Given the description of an element on the screen output the (x, y) to click on. 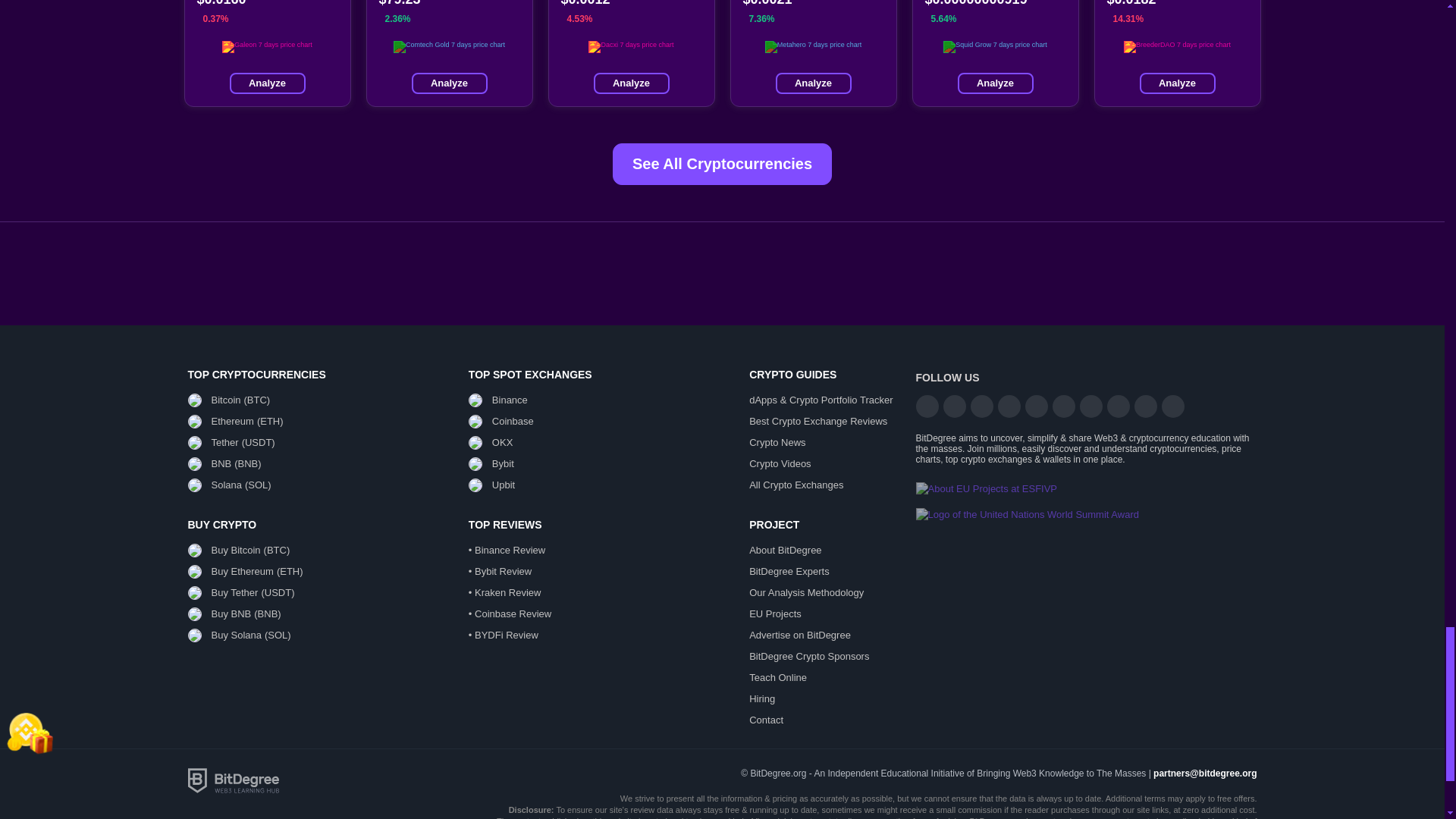
Dacxi 7 days price chart (630, 46)
Squid Grow 7 days price chart (994, 46)
Comtech Gold 7 days price chart (449, 46)
Bitcoin logo (194, 400)
BreederDAO 7 days price chart (1177, 46)
Metahero 7 days price chart (813, 46)
Galeon 7 days price chart (267, 46)
